Given the description of an element on the screen output the (x, y) to click on. 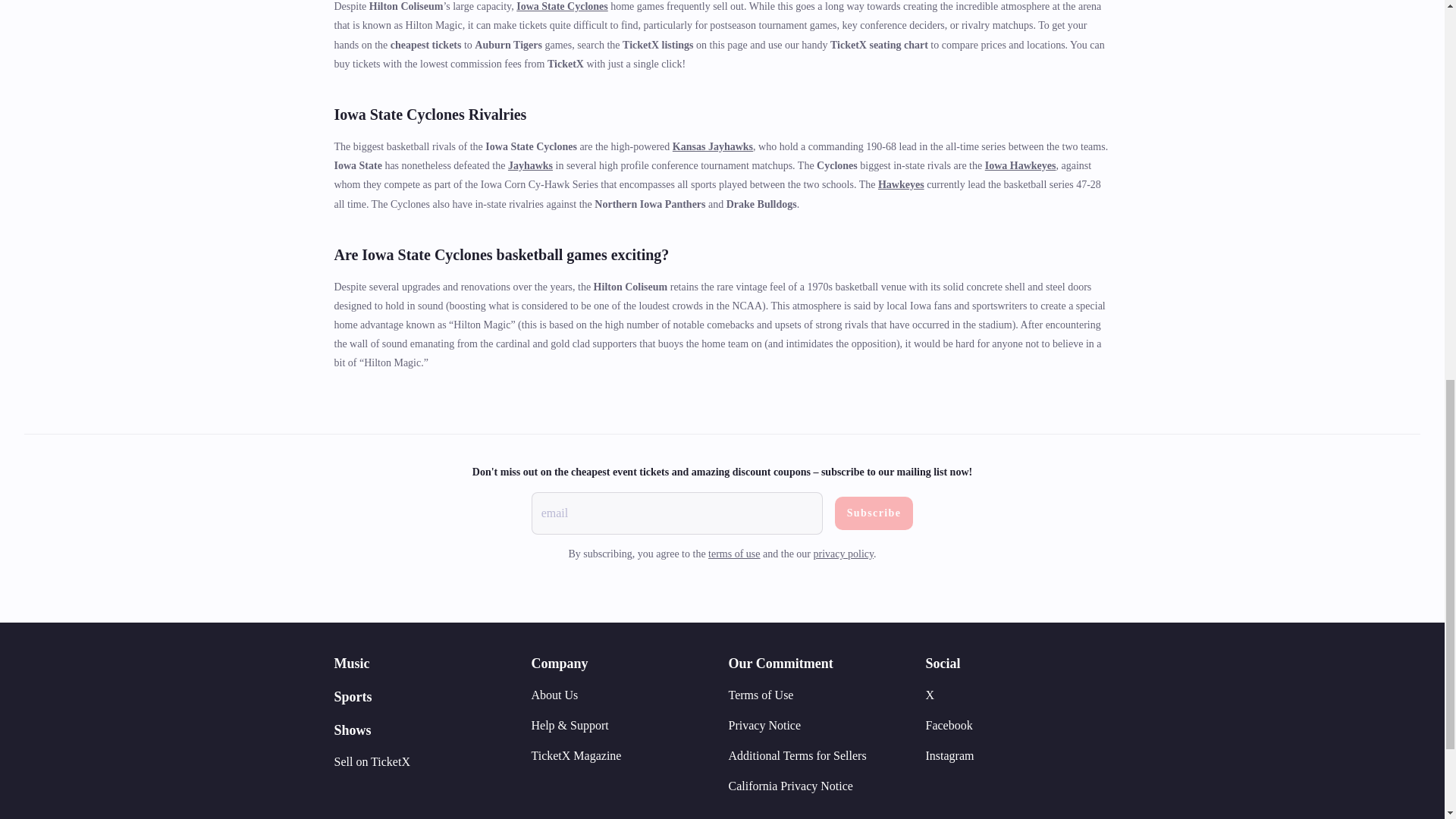
terms of use (733, 553)
Iowa State Cyclones (562, 6)
Music (351, 663)
Hawkeyes (900, 184)
Shows (352, 729)
privacy policy (844, 553)
Iowa Hawkeyes (1021, 165)
Sell on TicketX (371, 761)
Jayhawks (530, 165)
Sports (352, 696)
Kansas Jayhawks (712, 146)
Subscribe (874, 512)
